Given the description of an element on the screen output the (x, y) to click on. 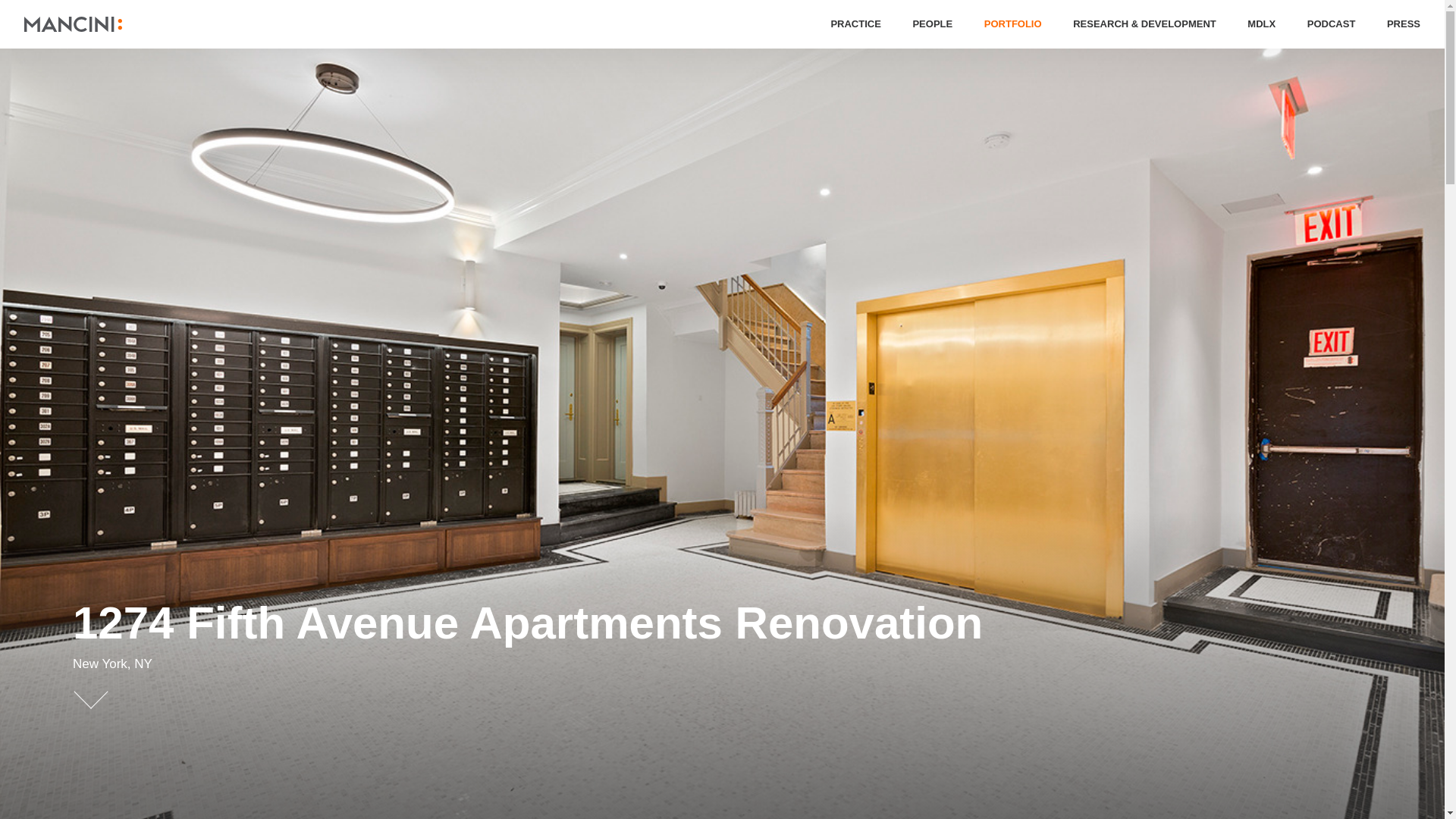
PORTFOLIO (1013, 24)
PODCAST (1331, 24)
MDLX (809, 711)
PRACTICE (854, 24)
